Given the description of an element on the screen output the (x, y) to click on. 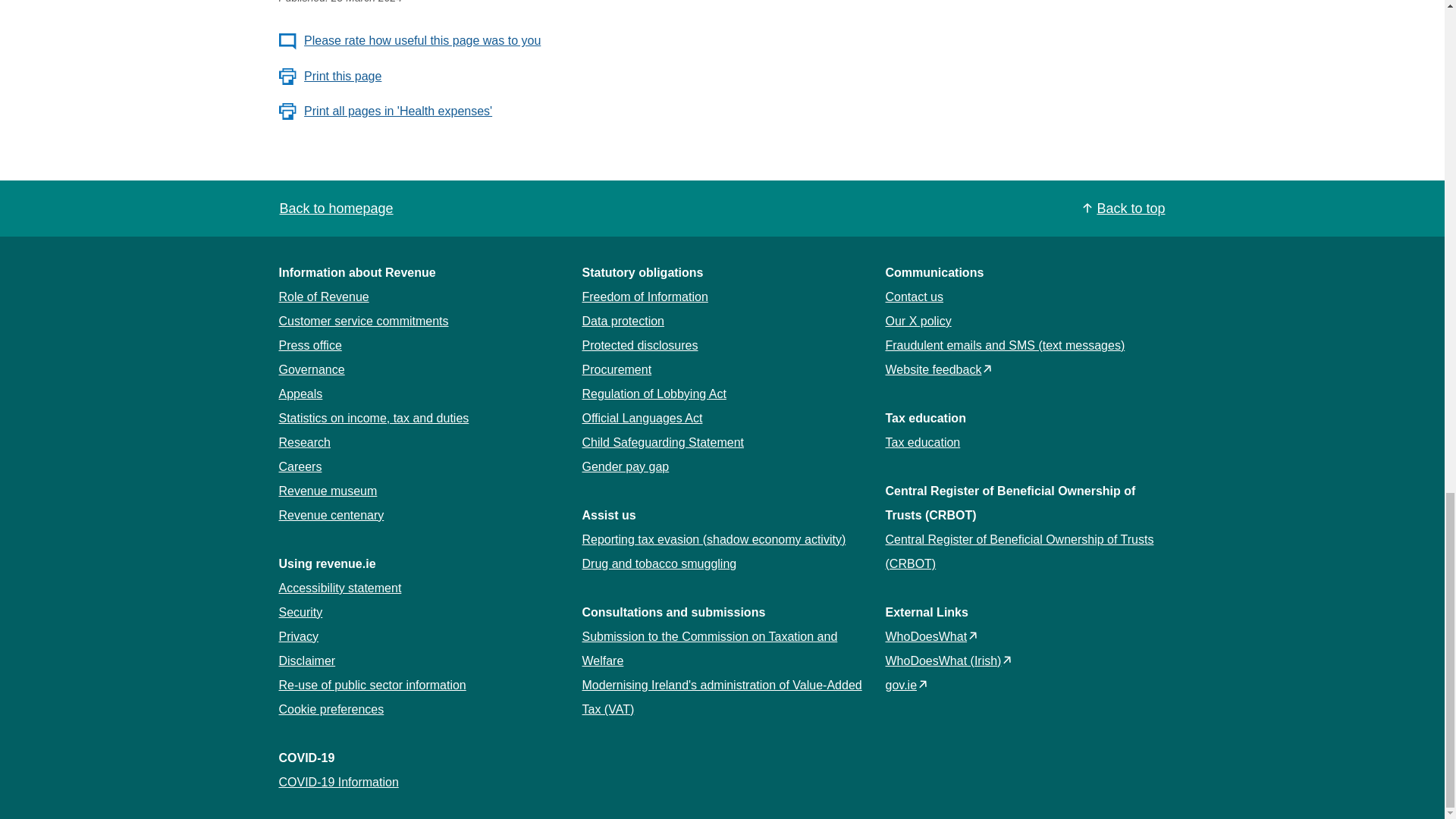
Role of Revenue (324, 296)
Print this page (330, 76)
Customer service commitments (363, 320)
Print all pages in 'Health expenses' (386, 111)
Please rate how useful this page was to you (410, 40)
